Given the description of an element on the screen output the (x, y) to click on. 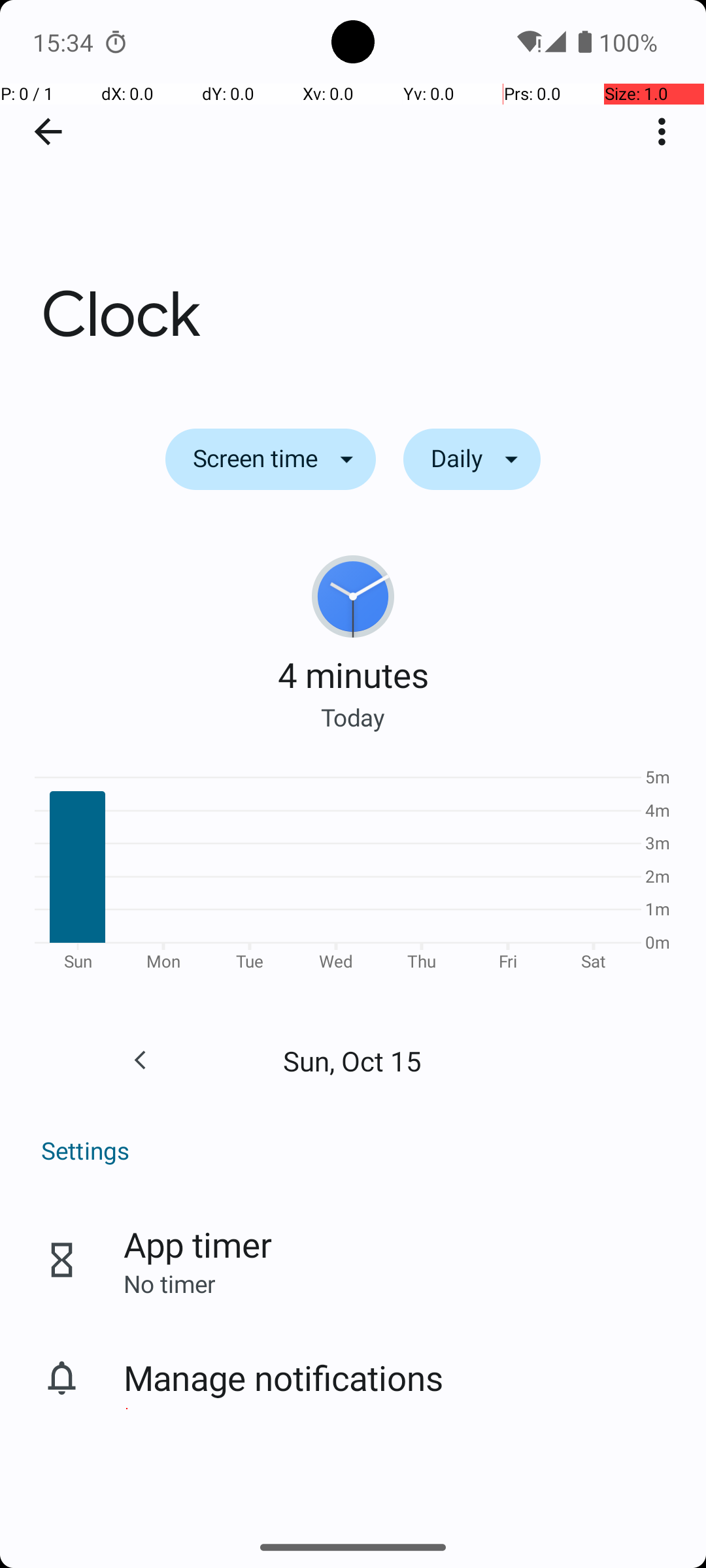
4 minutes Element type: android.widget.TextView (353, 674)
Go to the previous day Element type: android.widget.Button (139, 1060)
Bar Chart. Showing App usage data with 7 data points. Element type: android.view.ViewGroup (353, 873)
App timer Element type: android.widget.TextView (197, 1244)
No timer Element type: android.widget.TextView (169, 1283)
Manage notifications Element type: android.widget.TextView (283, 1377)
